Given the description of an element on the screen output the (x, y) to click on. 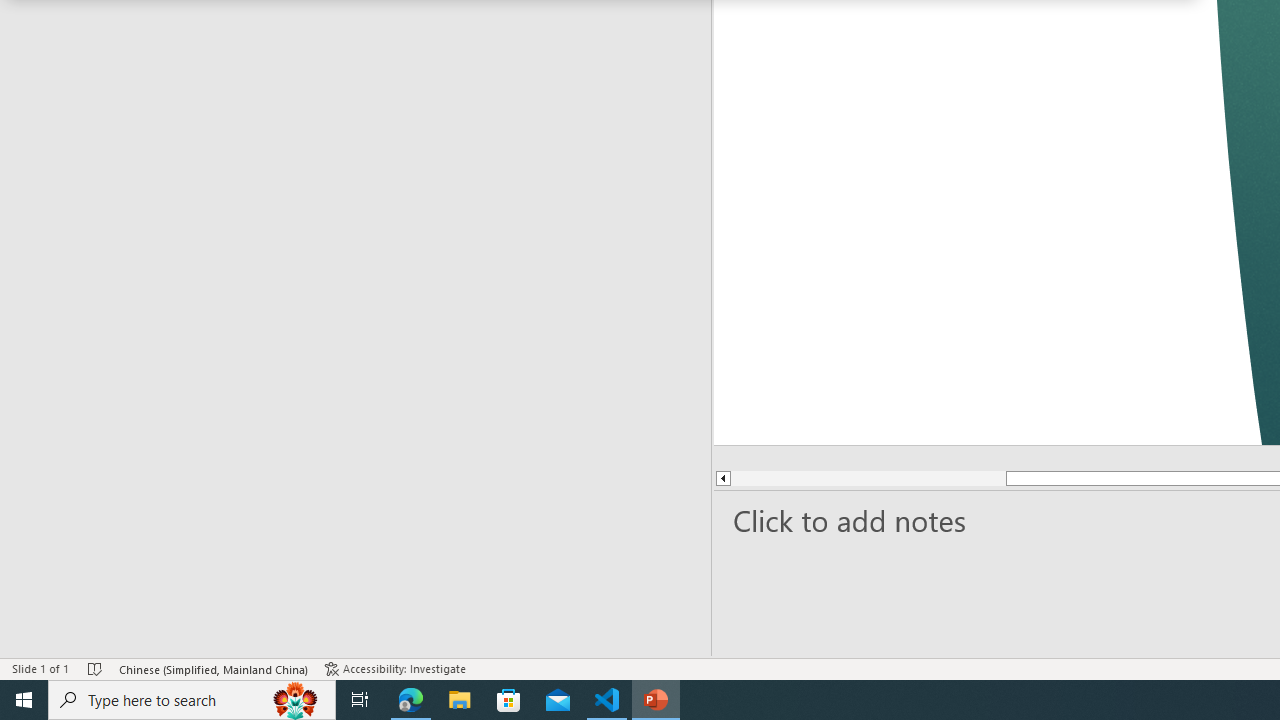
Page up (868, 478)
Microsoft Edge - 1 running window (411, 699)
